Given the description of an element on the screen output the (x, y) to click on. 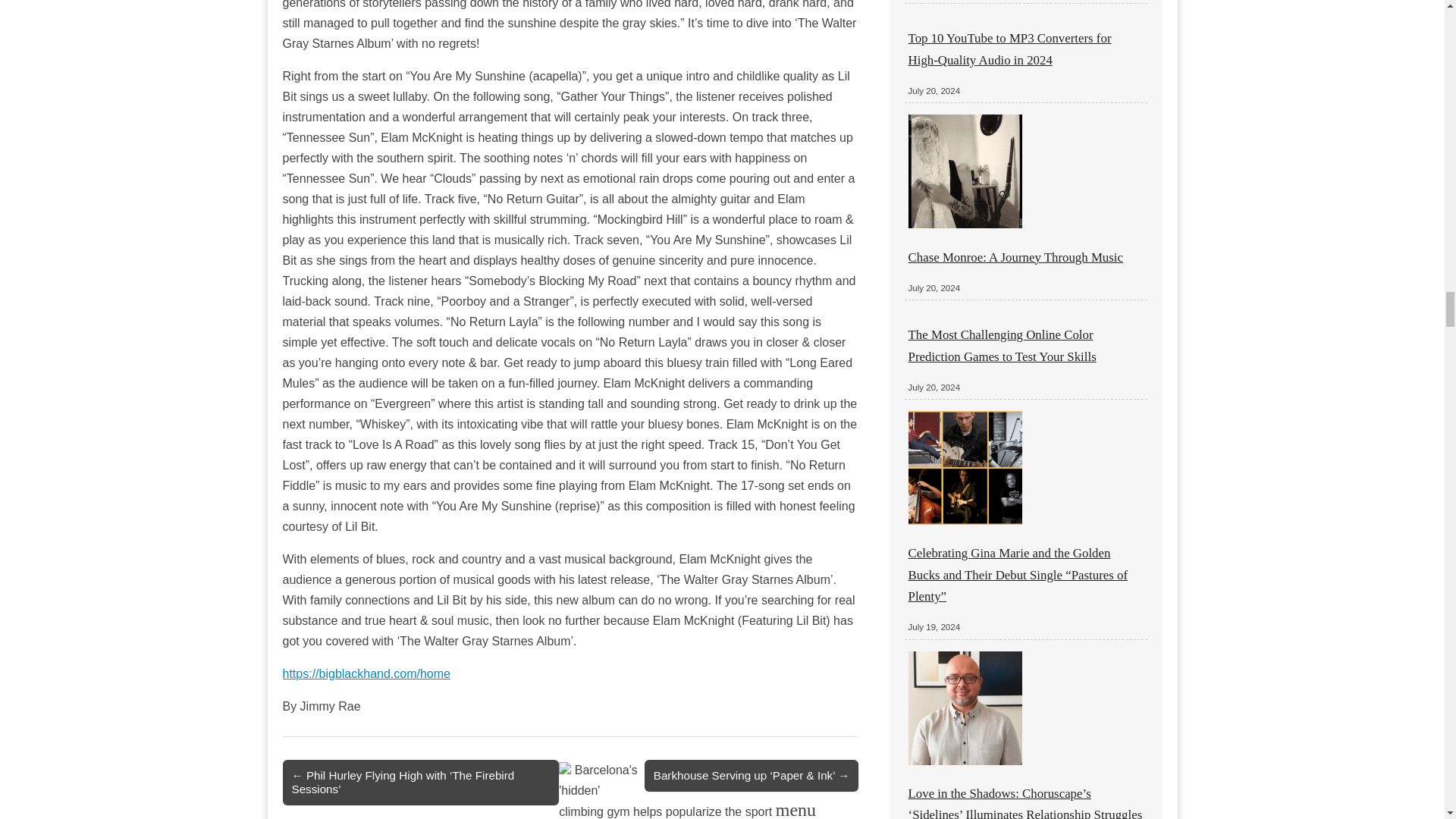
Chase Monroe: A Journey Through Music (1015, 257)
